Given the description of an element on the screen output the (x, y) to click on. 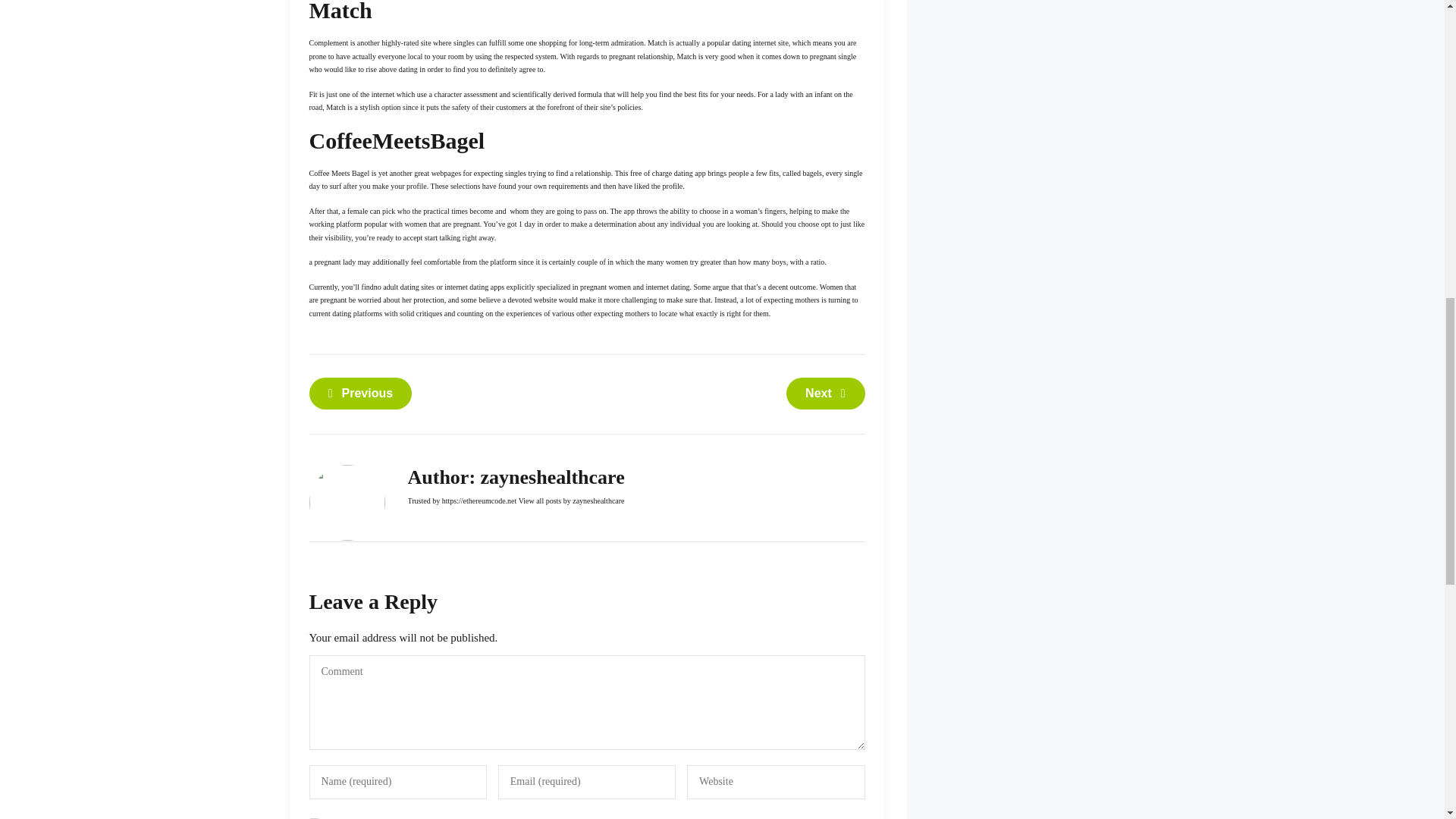
View all posts by zayneshealthcare (571, 500)
Next (825, 393)
Previous (360, 393)
